Given the description of an element on the screen output the (x, y) to click on. 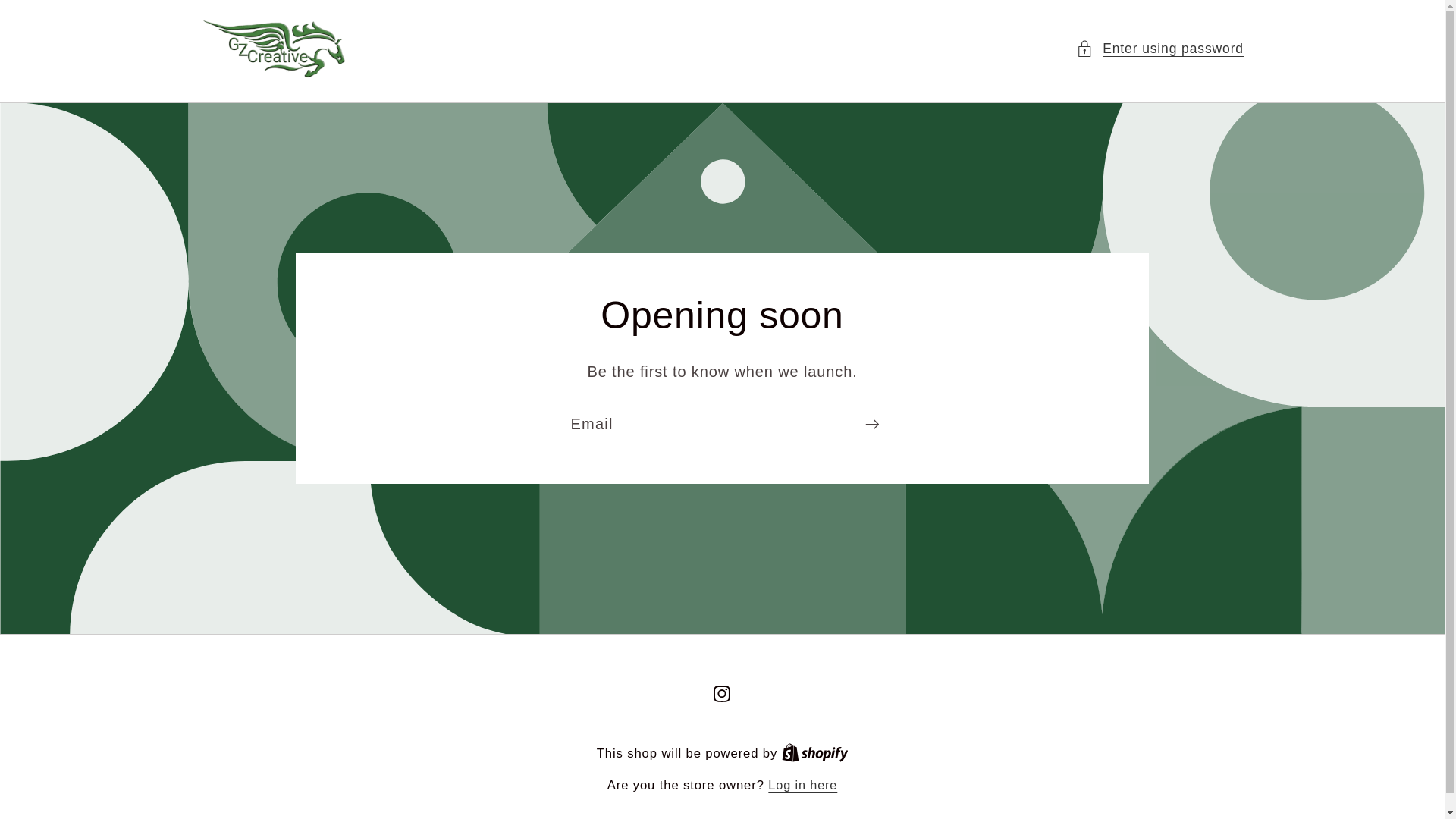
Skip to content (60, 24)
Log in here (802, 784)
Instagram (721, 693)
